Given the description of an element on the screen output the (x, y) to click on. 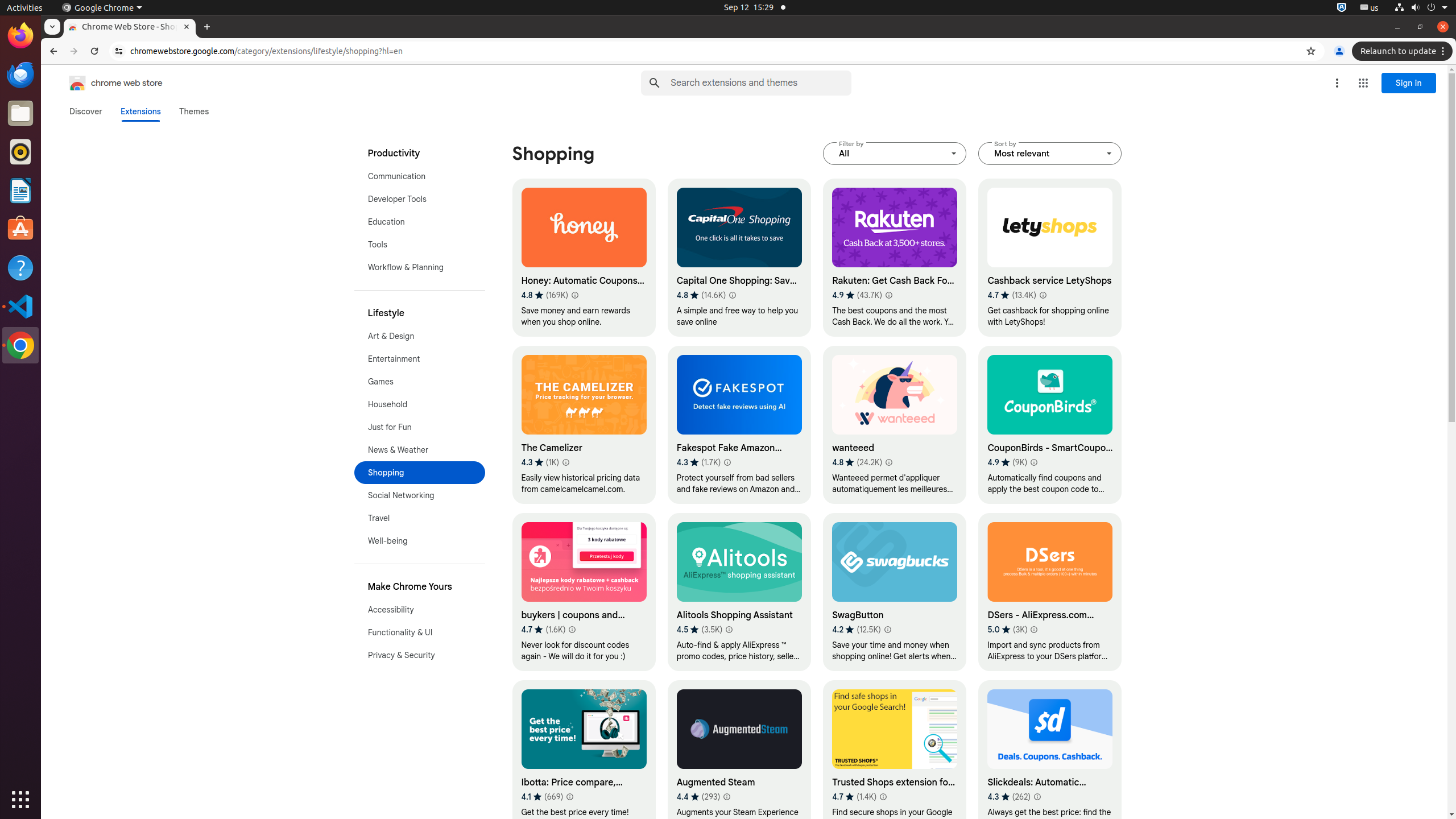
View site information Element type: push-button (118, 51)
News & Weather Element type: menu-item (419, 449)
System Element type: menu (1420, 7)
Capital One Shopping: Save Now Element type: link (739, 257)
Rhythmbox Element type: push-button (20, 151)
